Given the description of an element on the screen output the (x, y) to click on. 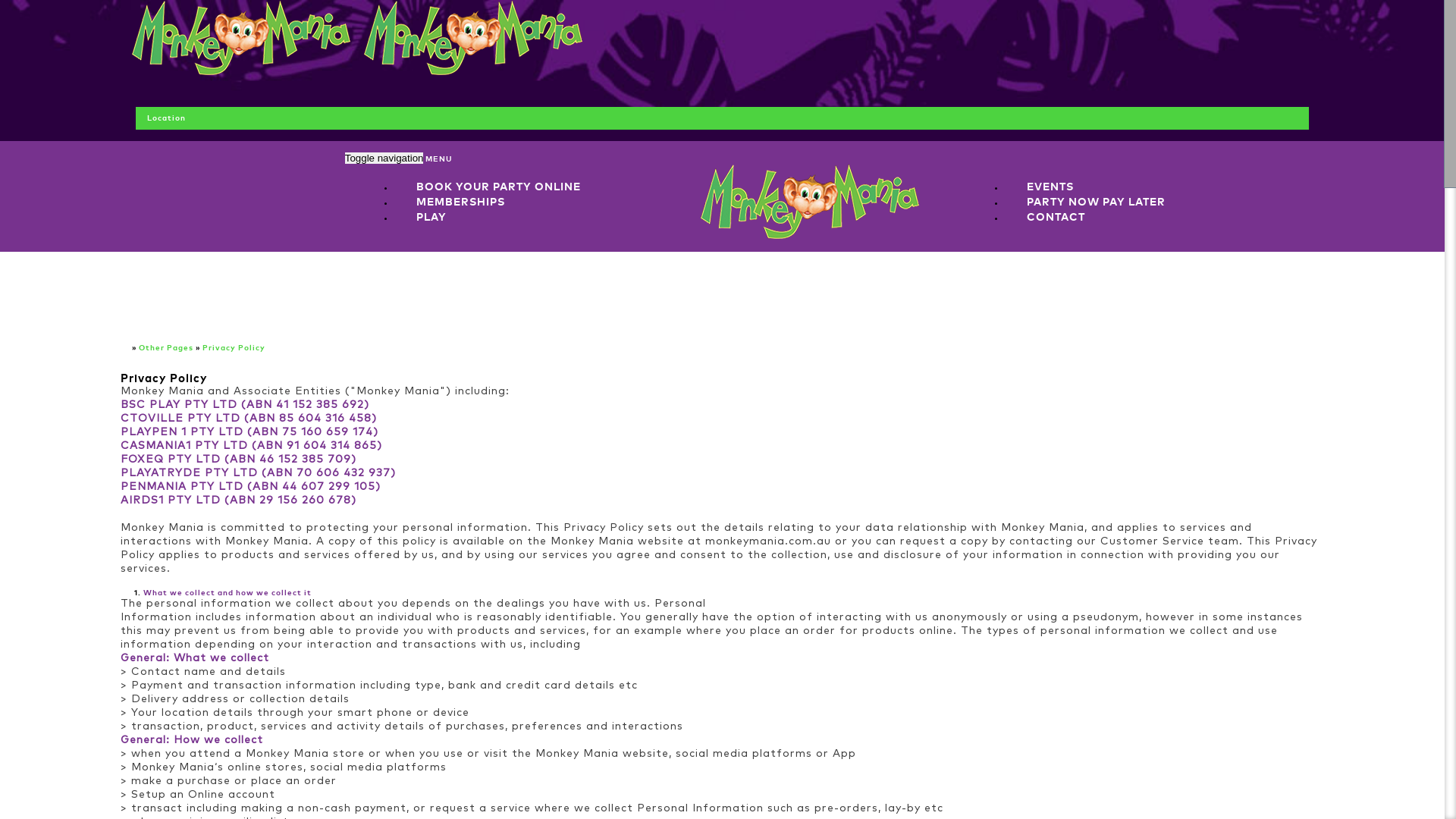
PLAY Element type: text (431, 216)
Privacy Policy Element type: text (233, 347)
Toggle navigation Element type: text (384, 157)
MENU Element type: text (438, 159)
CONTACT Element type: text (1055, 216)
EVENTS Element type: text (1050, 186)
PARTY NOW PAY LATER Element type: text (1096, 201)
MEMBERSHIPS Element type: text (460, 201)
BOOK YOUR PARTY ONLINE Element type: text (498, 186)
Other Pages Element type: text (165, 347)
Location Element type: text (297, 170)
Zip Pay Element type: hover (1272, 171)
Location Element type: text (166, 118)
